Given the description of an element on the screen output the (x, y) to click on. 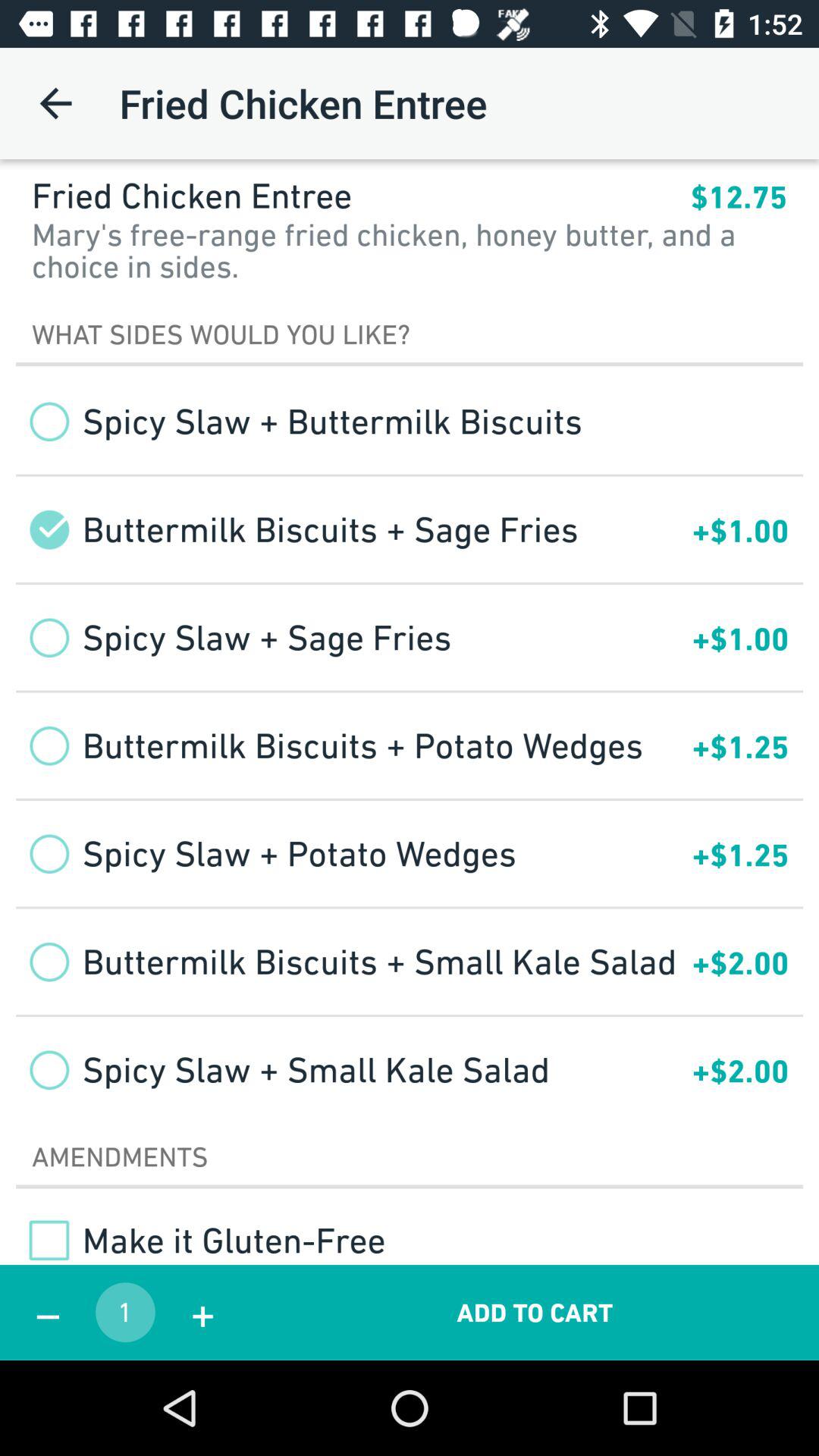
turn off icon at the top left corner (55, 103)
